Given the description of an element on the screen output the (x, y) to click on. 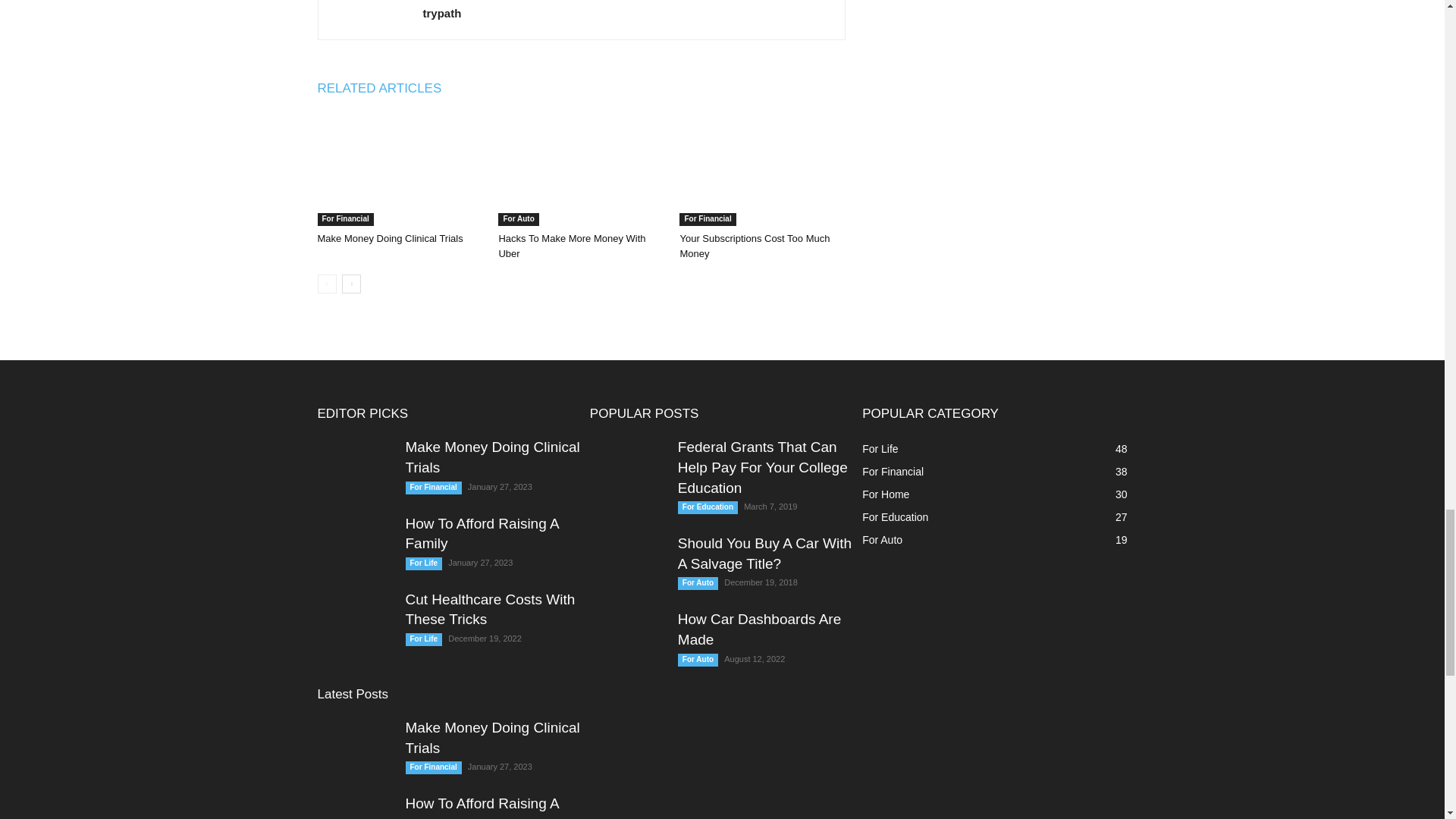
Make Money Doing Clinical Trials (399, 169)
